Given the description of an element on the screen output the (x, y) to click on. 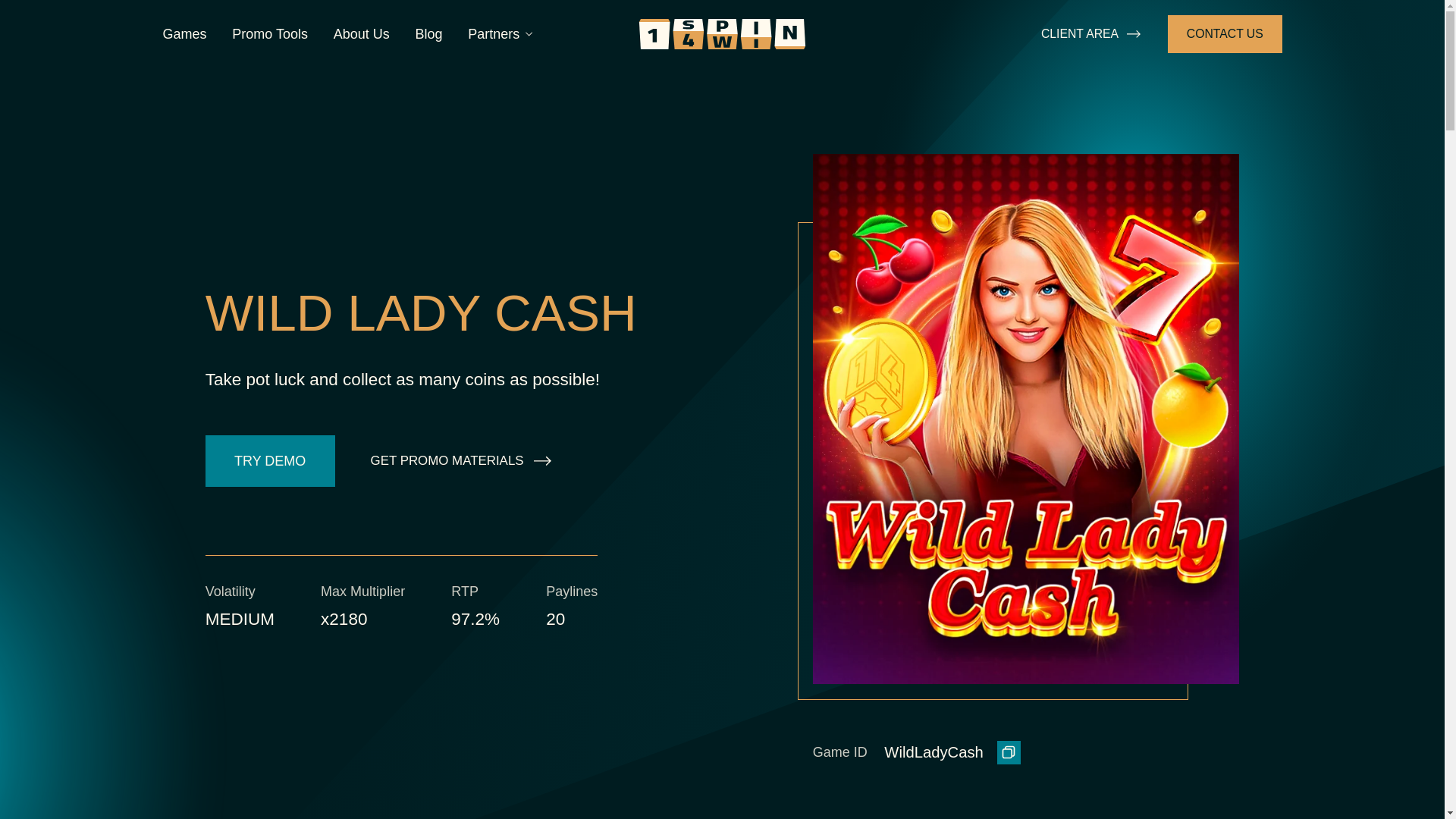
GET PROMO MATERIALS (461, 460)
Promo Tools (269, 34)
Games (183, 34)
CLIENT AREA (1090, 34)
CONTACT US (1224, 34)
About Us (361, 34)
TRY DEMO (269, 460)
